Given the description of an element on the screen output the (x, y) to click on. 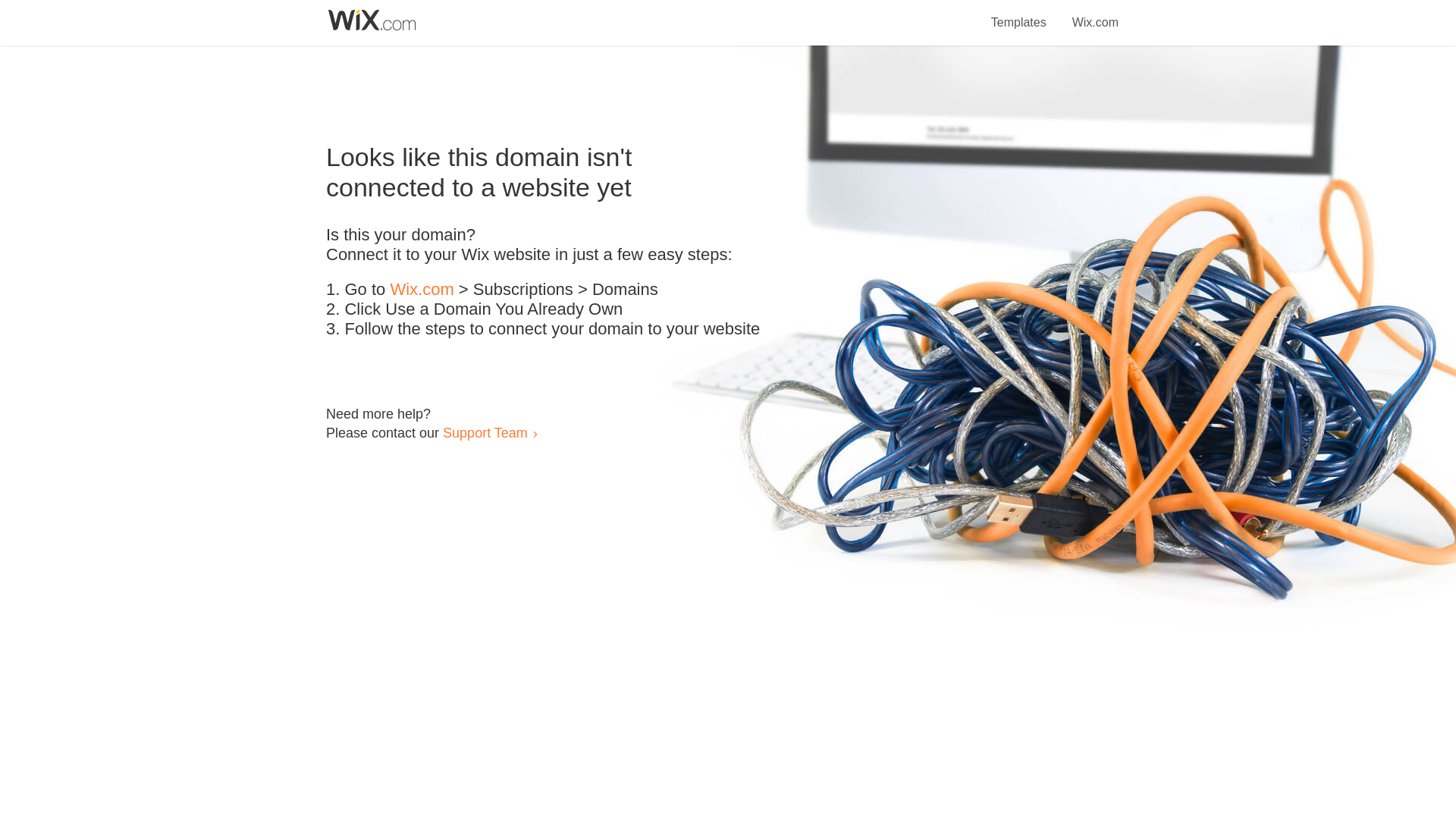
Wix.com (1095, 14)
Wix.com (421, 289)
Support Team (484, 432)
Templates (1018, 14)
